Given the description of an element on the screen output the (x, y) to click on. 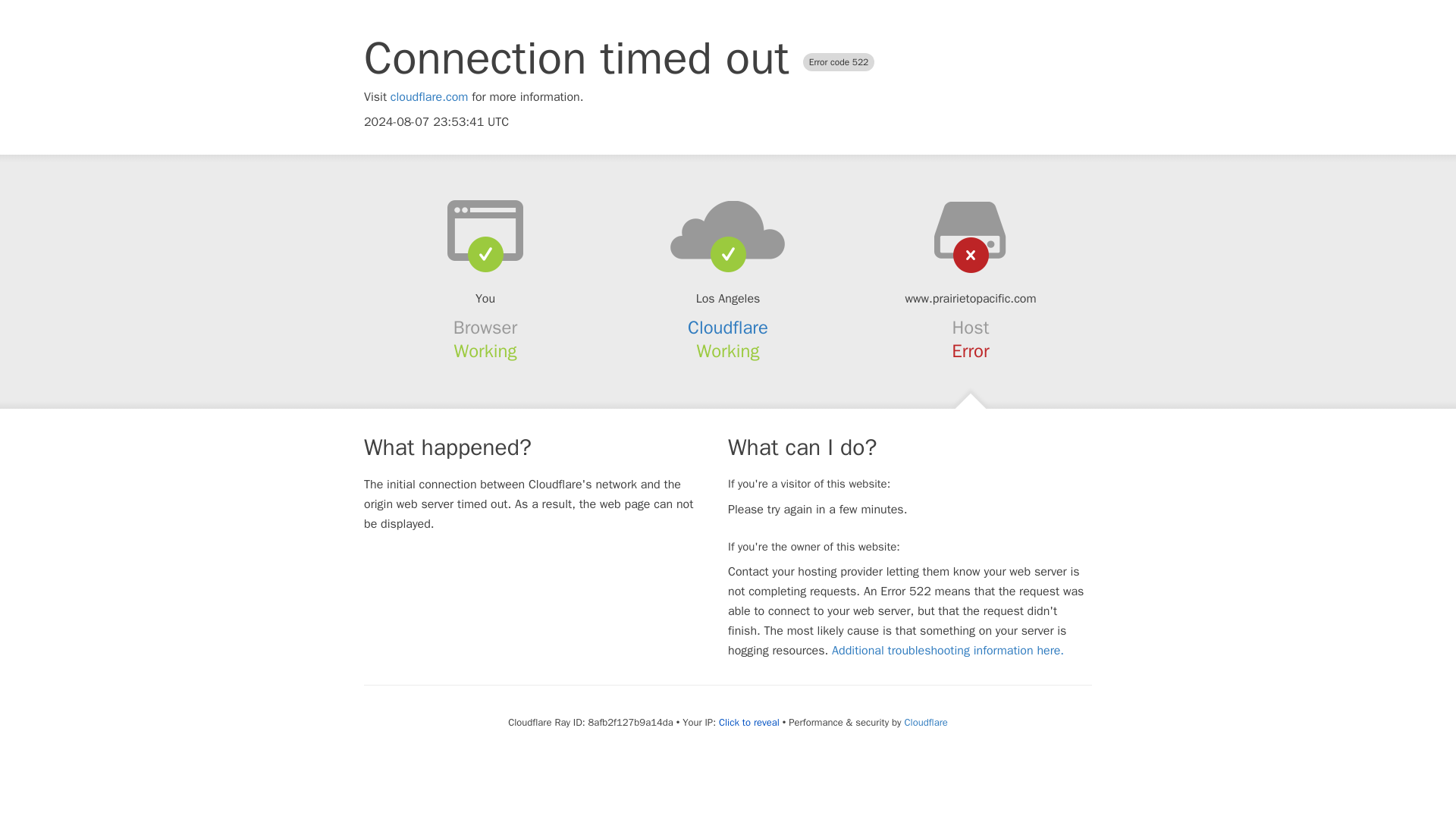
Cloudflare (727, 327)
cloudflare.com (429, 96)
Click to reveal (748, 722)
Additional troubleshooting information here. (947, 650)
Cloudflare (925, 721)
